Given the description of an element on the screen output the (x, y) to click on. 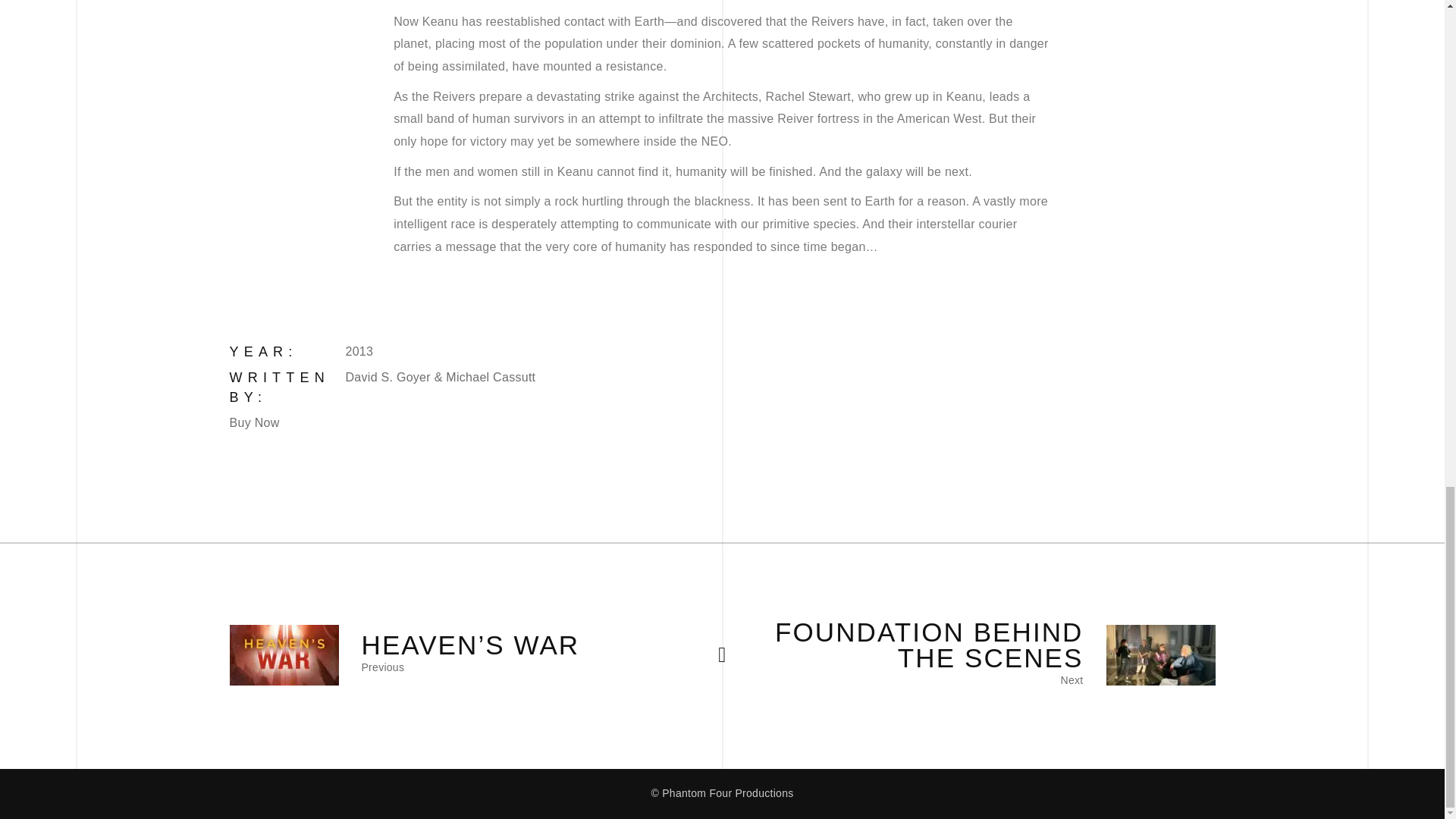
Buy Now (663, 423)
FOUNDATION BEHIND THE SCENES (912, 644)
